Given the description of an element on the screen output the (x, y) to click on. 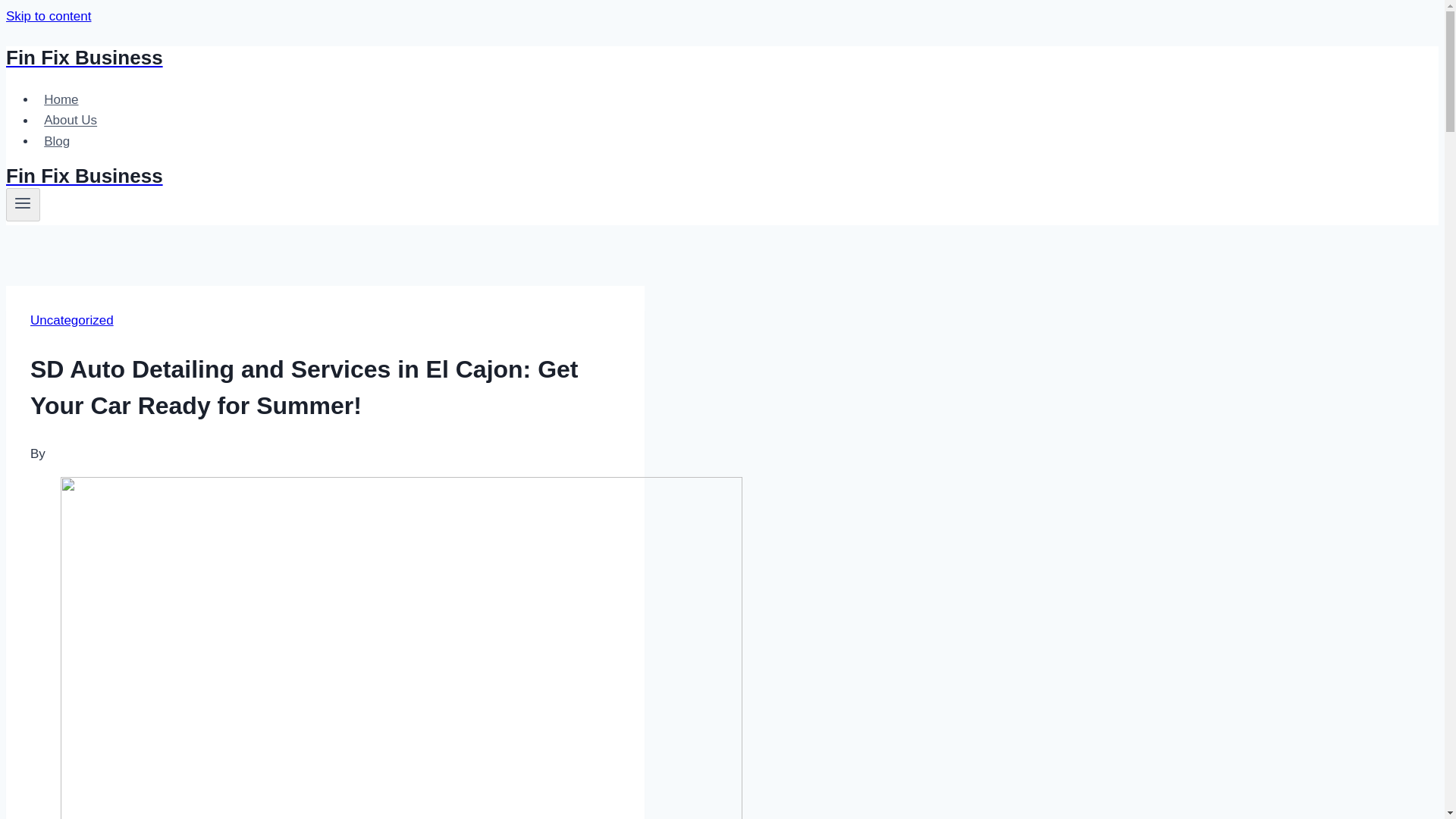
About Us (70, 120)
Skip to content (47, 16)
Toggle Menu (22, 203)
Blog (56, 141)
Fin Fix Business (494, 57)
Toggle Menu (22, 204)
Skip to content (47, 16)
Home (60, 99)
Fin Fix Business (494, 176)
Uncategorized (71, 319)
